Given the description of an element on the screen output the (x, y) to click on. 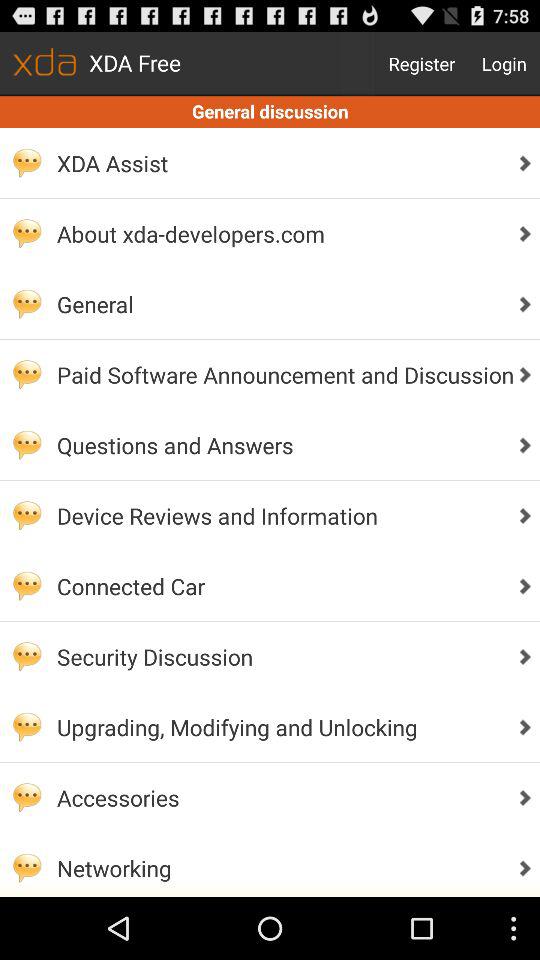
press paid software announcement app (280, 374)
